Given the description of an element on the screen output the (x, y) to click on. 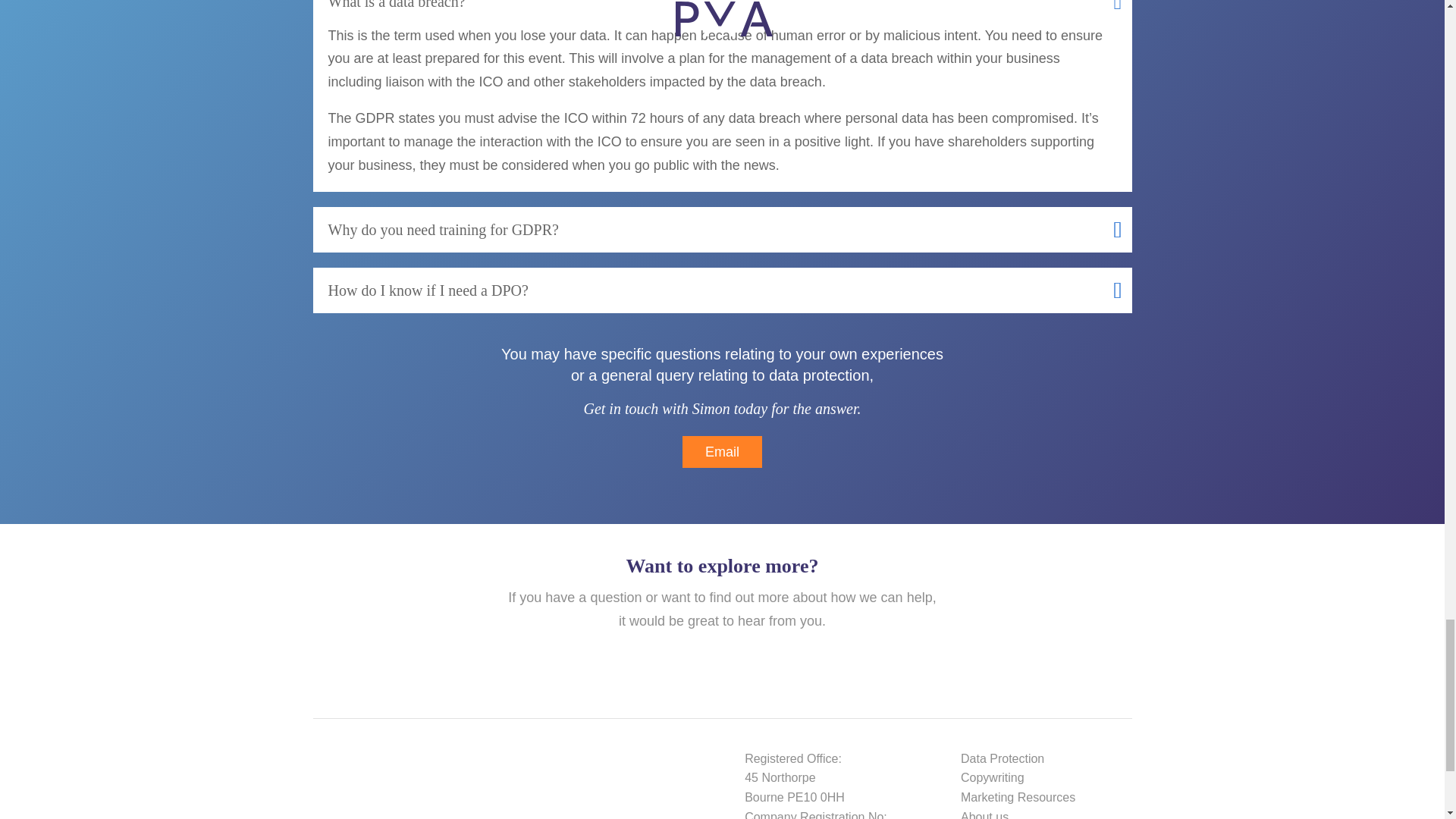
About us (984, 814)
Copywriting (992, 777)
Marketing Resources (1017, 797)
Email (721, 451)
School Suppliers (574, 789)
Data Protection (1001, 758)
